Given the description of an element on the screen output the (x, y) to click on. 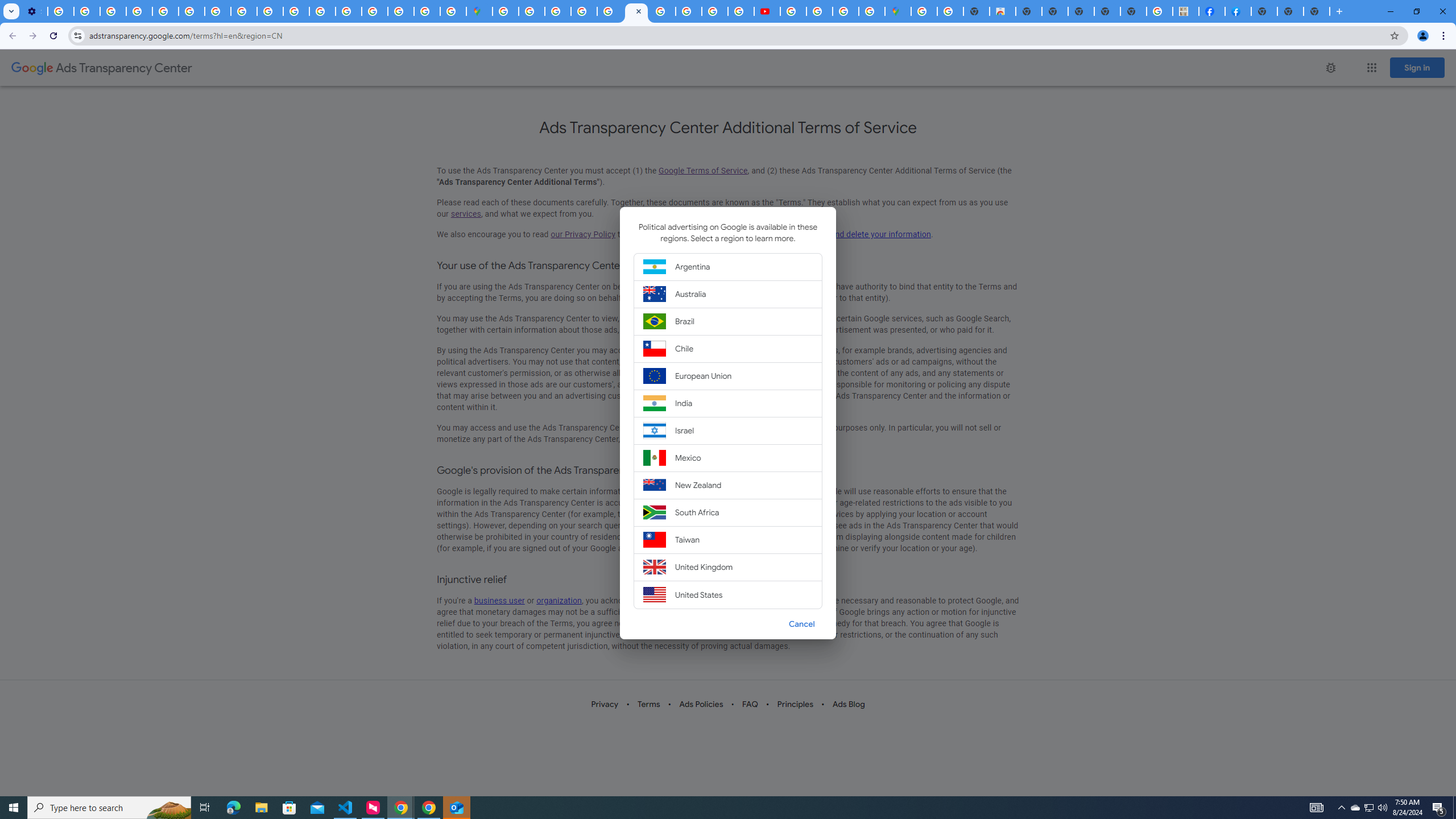
India (727, 403)
European Union (727, 375)
update, manage, export, and delete your information (835, 234)
services (464, 213)
Israel (727, 430)
Sign in - Google Accounts (374, 11)
Taiwan (727, 539)
Sign in - Google Accounts (505, 11)
